Given the description of an element on the screen output the (x, y) to click on. 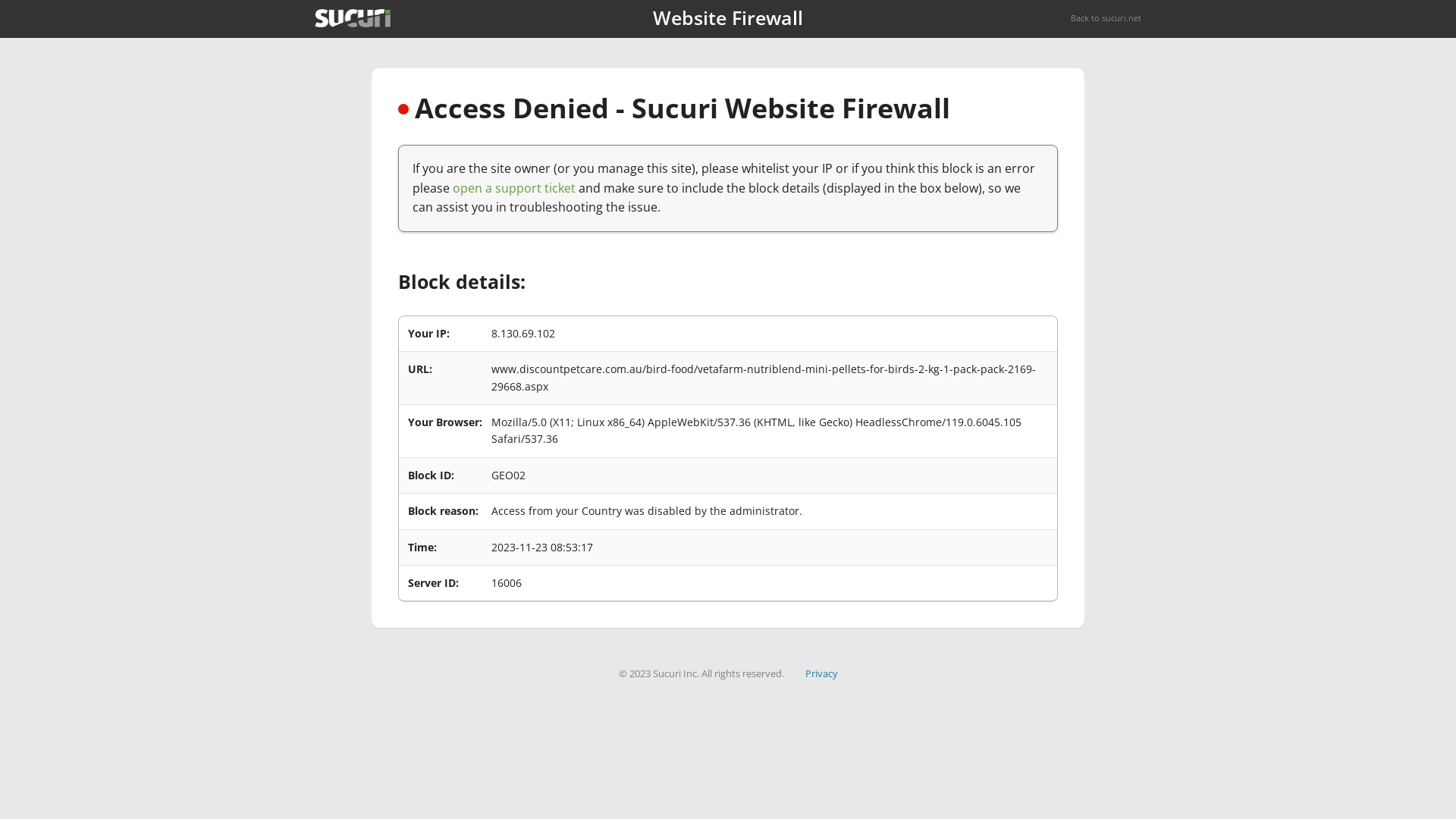
Back to sucuri.net Element type: text (1105, 18)
Privacy Element type: text (821, 673)
open a support ticket Element type: text (513, 187)
